Given the description of an element on the screen output the (x, y) to click on. 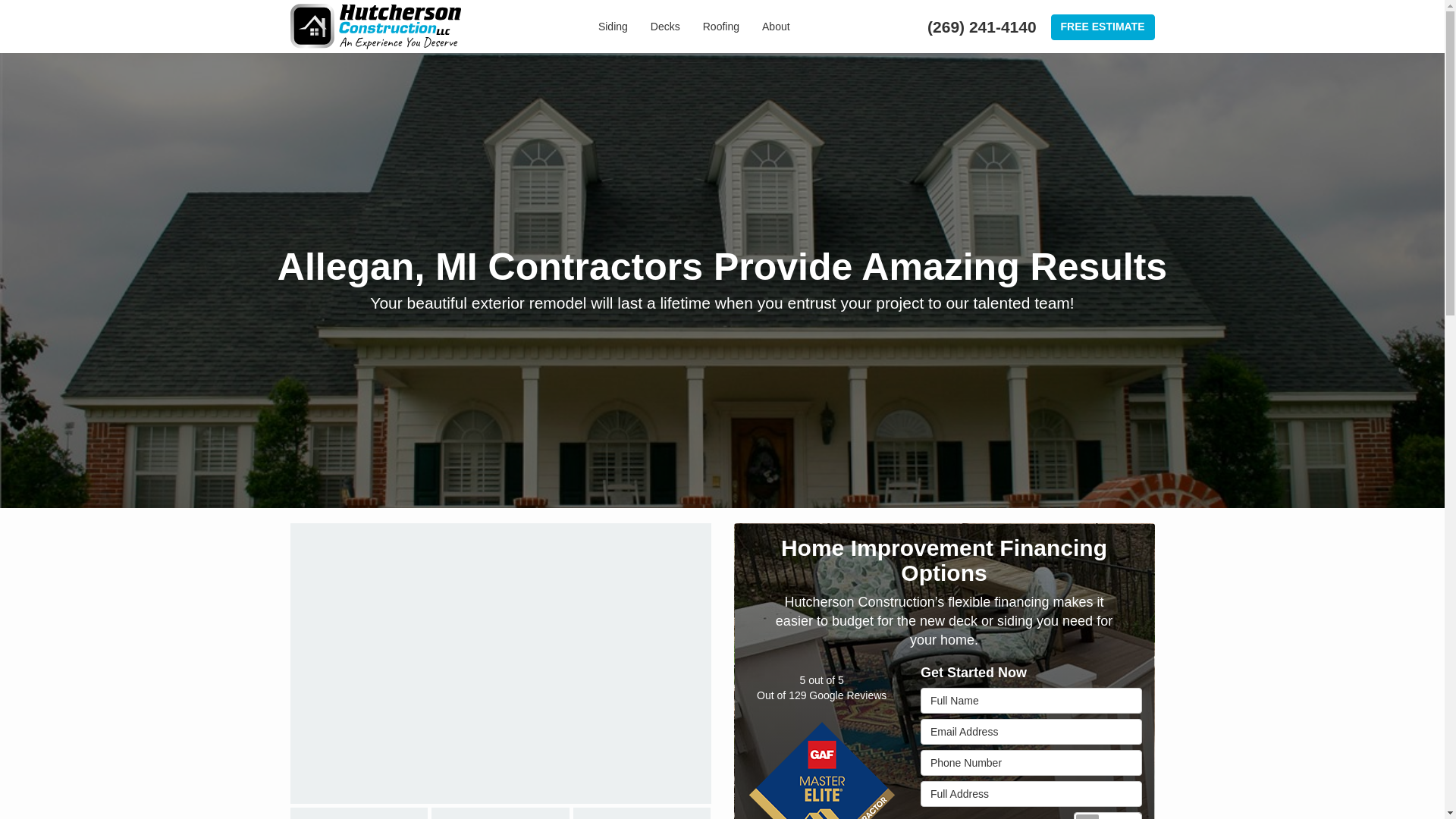
FREE ESTIMATE (1102, 27)
Siding (612, 26)
Roofing (721, 26)
Decks (665, 26)
FREE ESTIMATE (1102, 27)
About (776, 26)
